Given the description of an element on the screen output the (x, y) to click on. 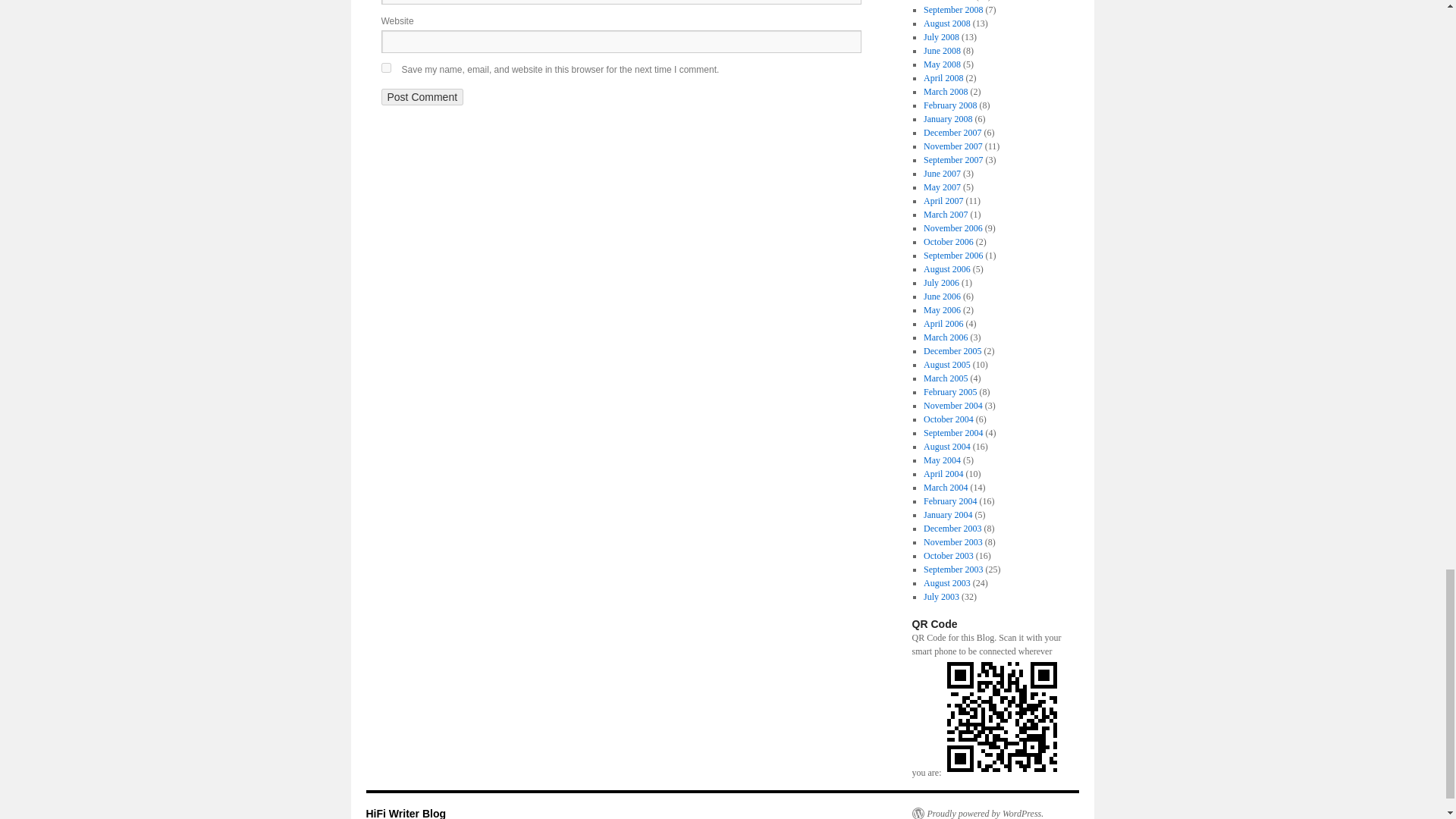
Post Comment (421, 96)
Post Comment (421, 96)
yes (385, 67)
